Given the description of an element on the screen output the (x, y) to click on. 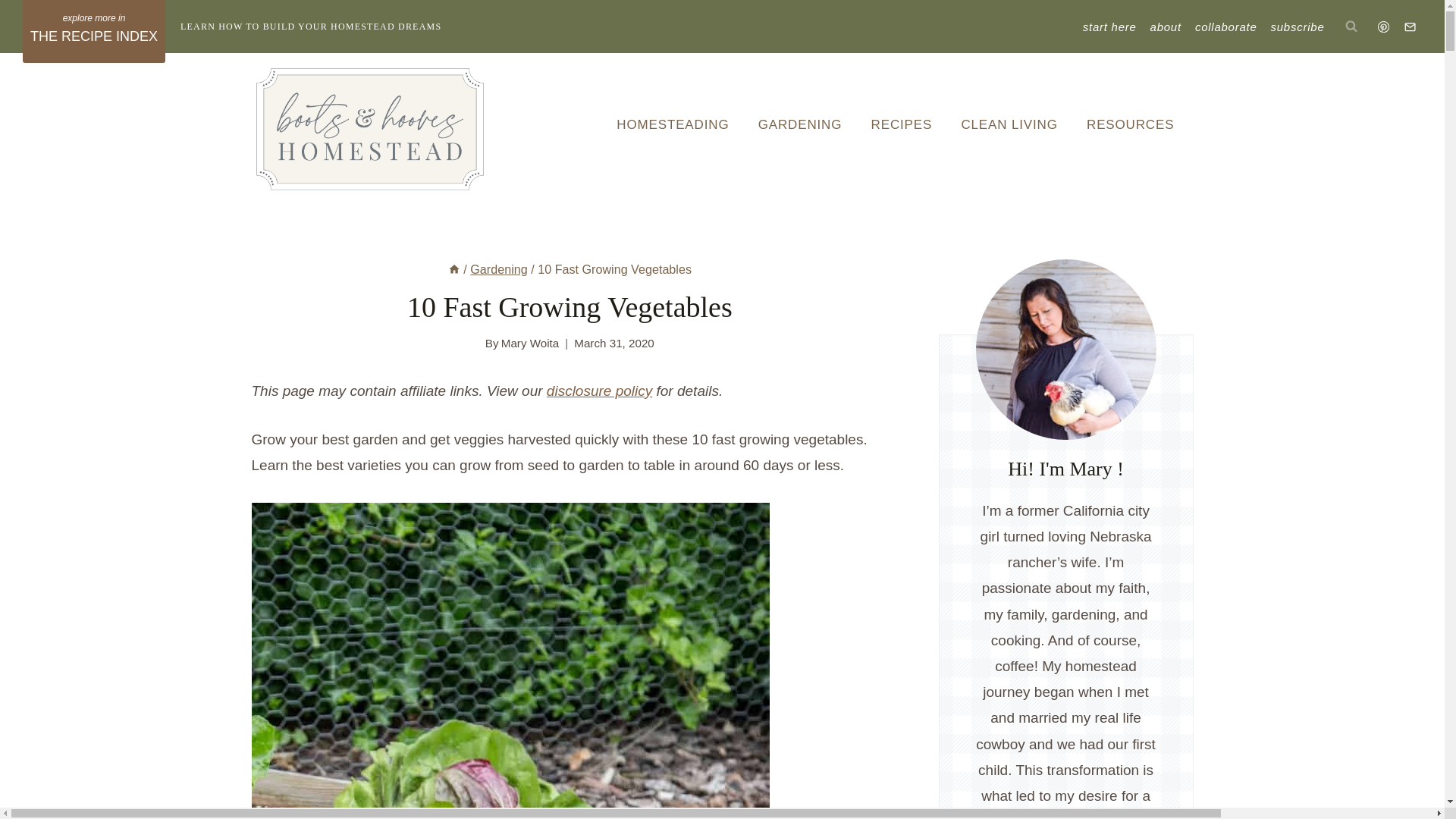
Home (454, 269)
RESOURCES (1130, 124)
RECIPES (901, 124)
THE RECIPE INDEX (94, 31)
start here (1108, 26)
subscribe (1297, 26)
LEARN HOW TO BUILD YOUR HOMESTEAD DREAMS (310, 26)
Gardening (498, 269)
CLEAN LIVING (1008, 124)
collaborate (1225, 26)
Mary Woita (529, 342)
GARDENING (800, 124)
disclosure policy (599, 390)
about (1165, 26)
HOMESTEADING (672, 124)
